Given the description of an element on the screen output the (x, y) to click on. 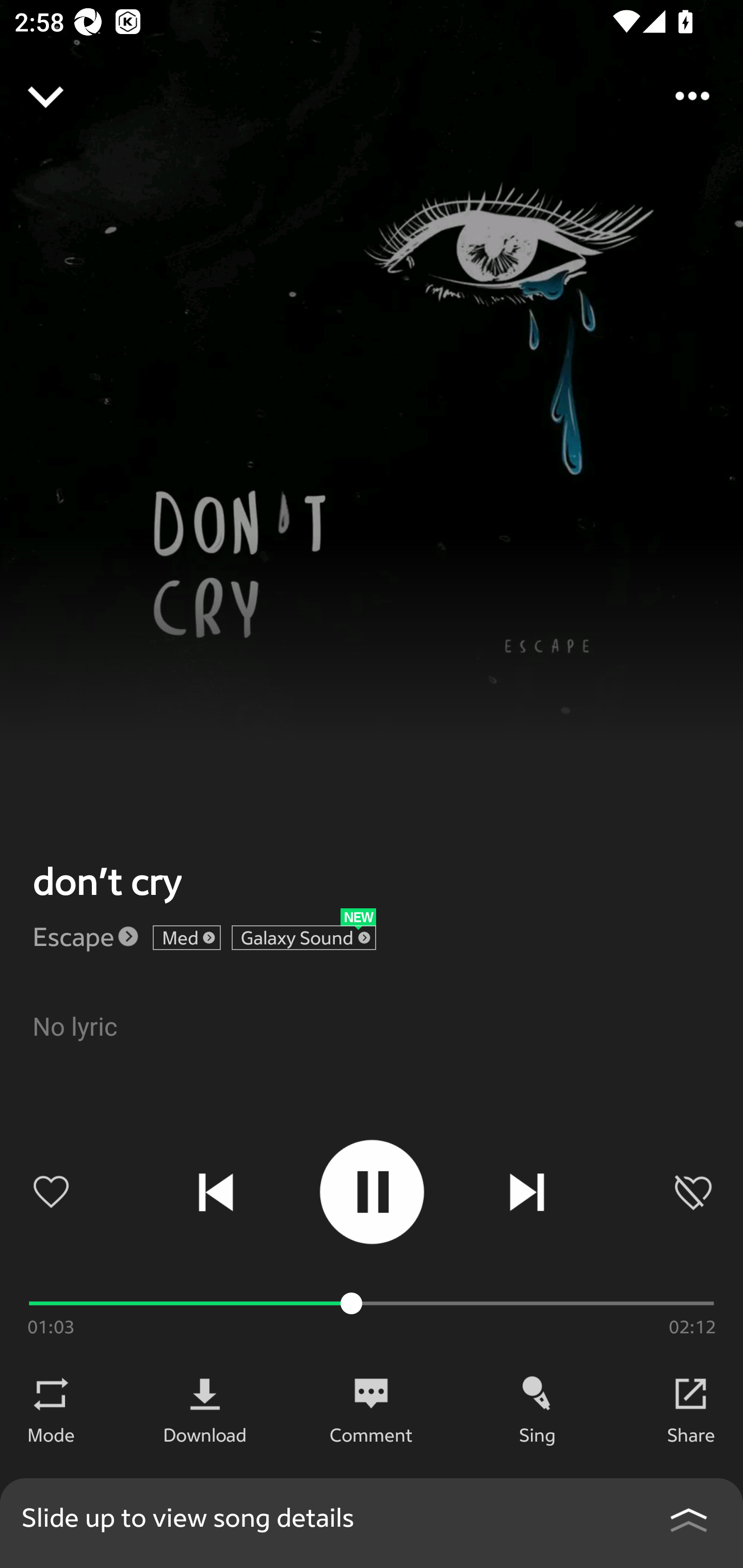
don’t cry (106, 881)
Escape (73, 935)
Med (186, 937)
Galaxy Sound (303, 937)
No lyric (371, 1048)
Mode (51, 1434)
Download (204, 1434)
Comment (370, 1434)
Sing (537, 1434)
Share (691, 1434)
Slide up to view song details (371, 1523)
